Given the description of an element on the screen output the (x, y) to click on. 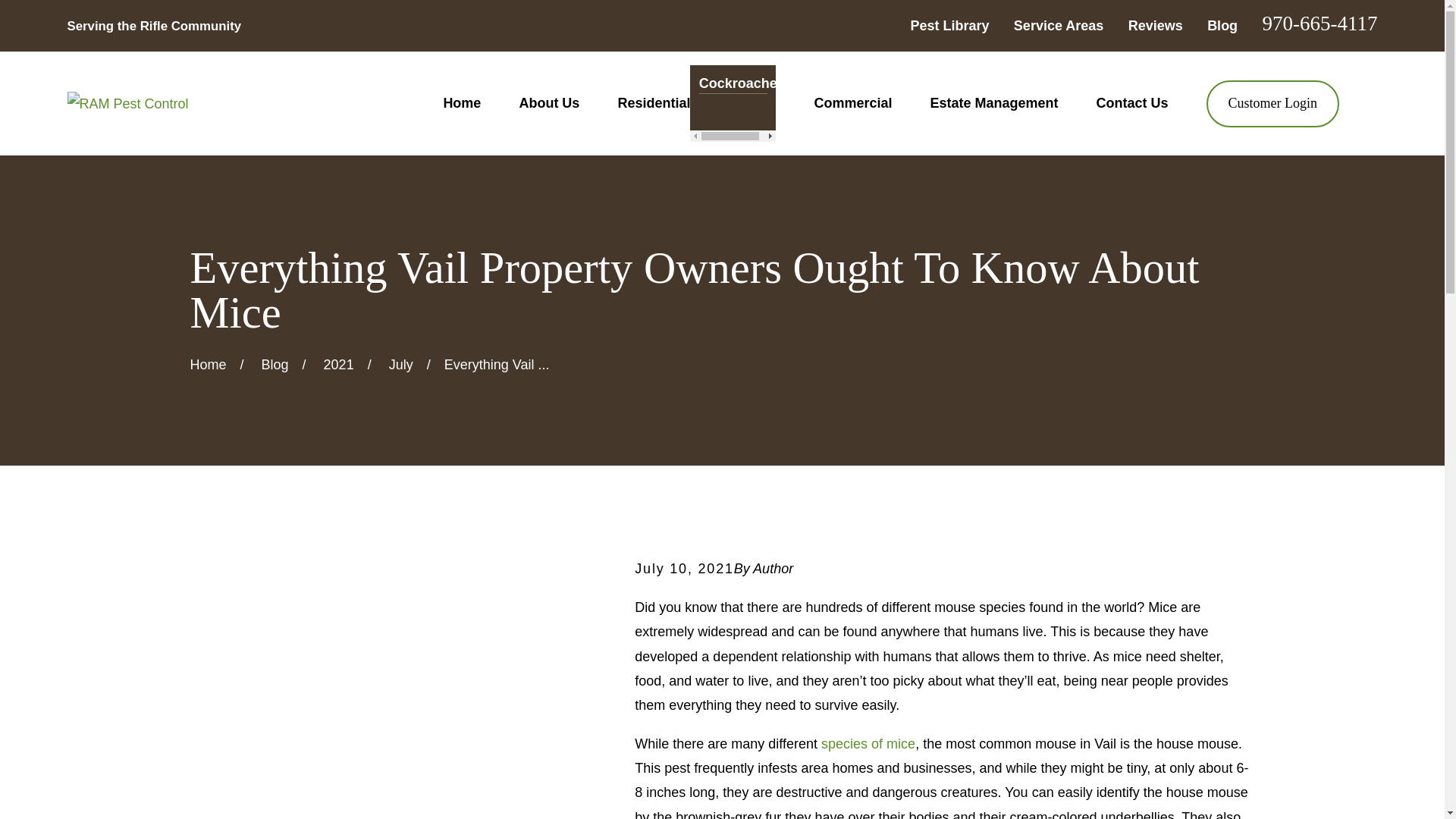
Commercial (852, 103)
Reviews (1155, 25)
Blog (1222, 25)
Residential (653, 103)
Go Home (207, 364)
Home (126, 103)
Estate Management (994, 103)
Cockroaches (732, 83)
Pest Library (949, 25)
Cockroaches (733, 103)
